Given the description of an element on the screen output the (x, y) to click on. 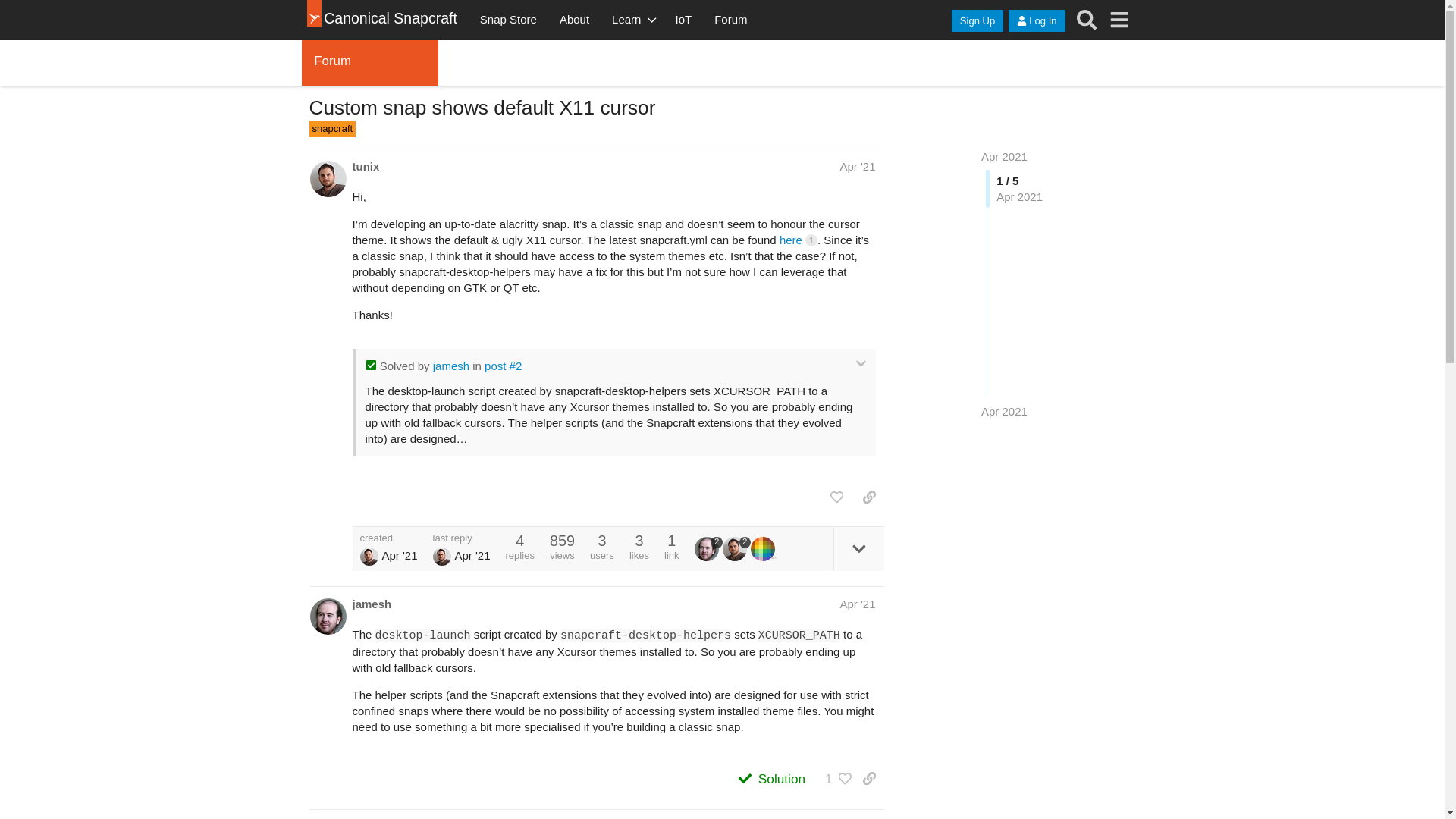
Sign Up (977, 20)
jamesh (450, 365)
menu (1119, 19)
like this post (836, 497)
Apr 21, 2021 4:36 am (1004, 410)
tunix (365, 166)
here 1 (797, 239)
Alper Kanat (368, 556)
Learn (631, 20)
Snap Store (508, 20)
Apr '21 (857, 165)
Log In (1036, 20)
Search (1086, 19)
IoT (683, 20)
